Given the description of an element on the screen output the (x, y) to click on. 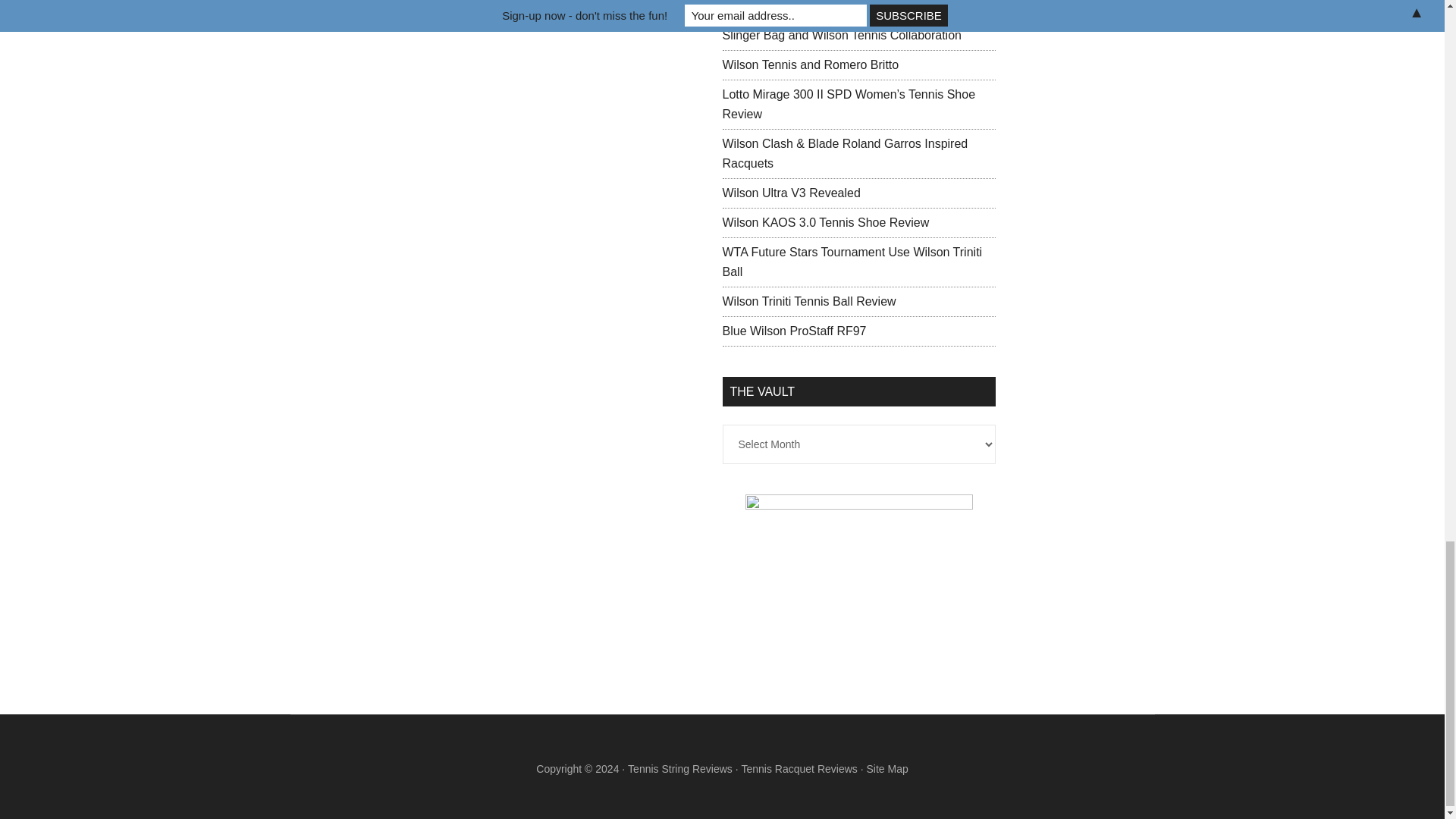
Site Map (886, 768)
